Given the description of an element on the screen output the (x, y) to click on. 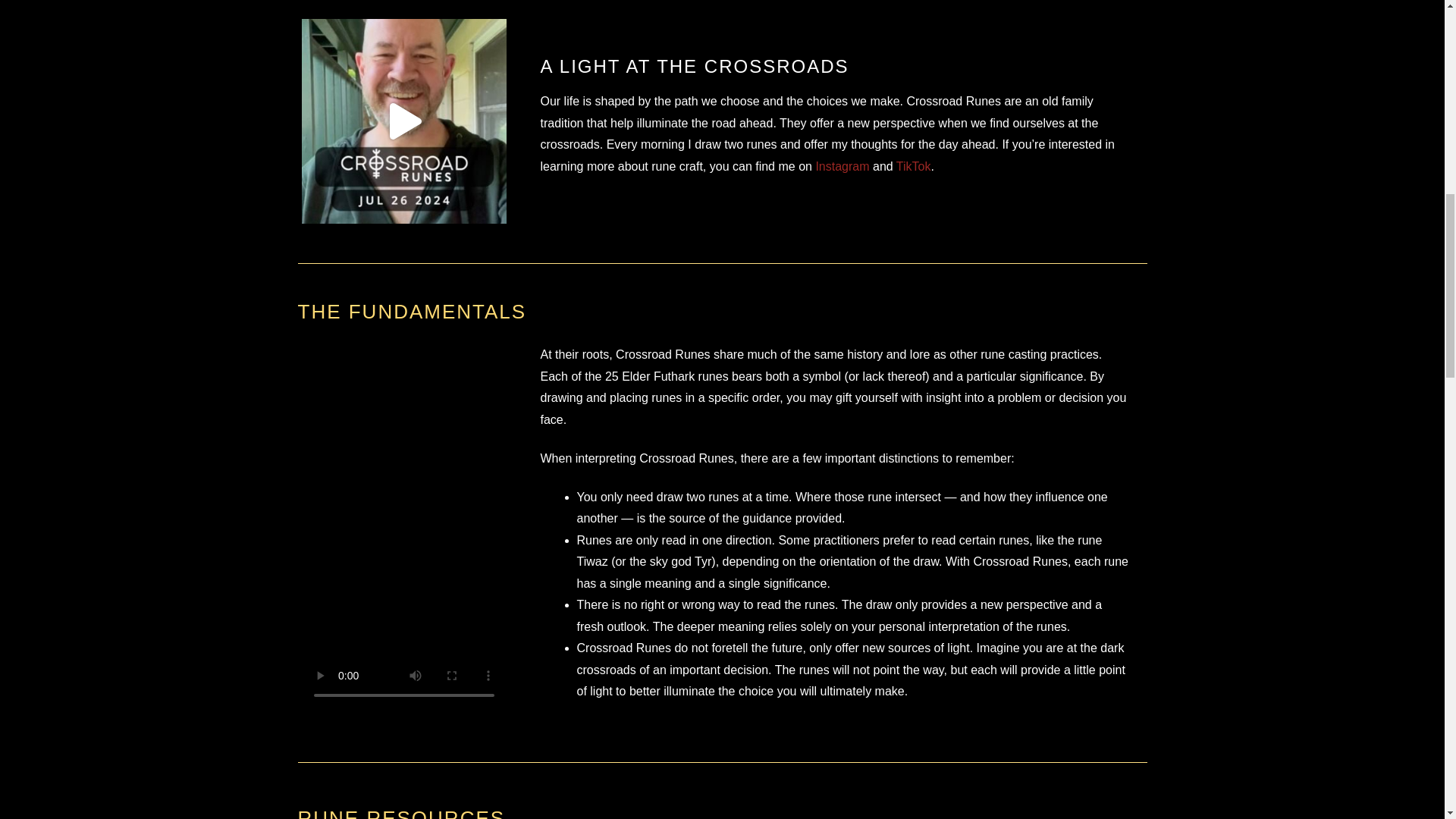
A LIGHT AT THE CROSSROADS (694, 66)
Instagram (840, 165)
TikTok (913, 165)
